Given the description of an element on the screen output the (x, y) to click on. 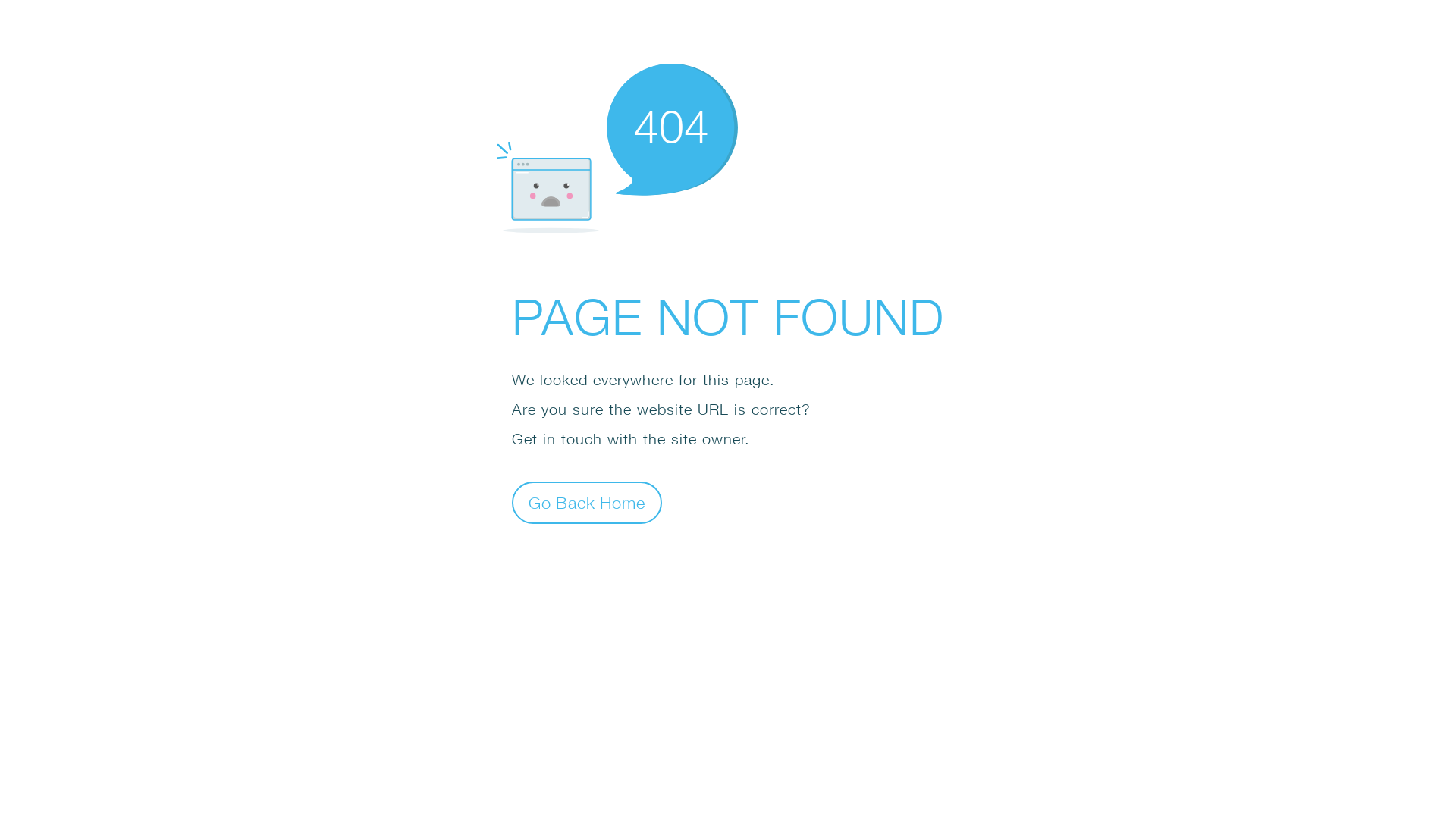
Go Back Home Element type: text (586, 502)
